Given the description of an element on the screen output the (x, y) to click on. 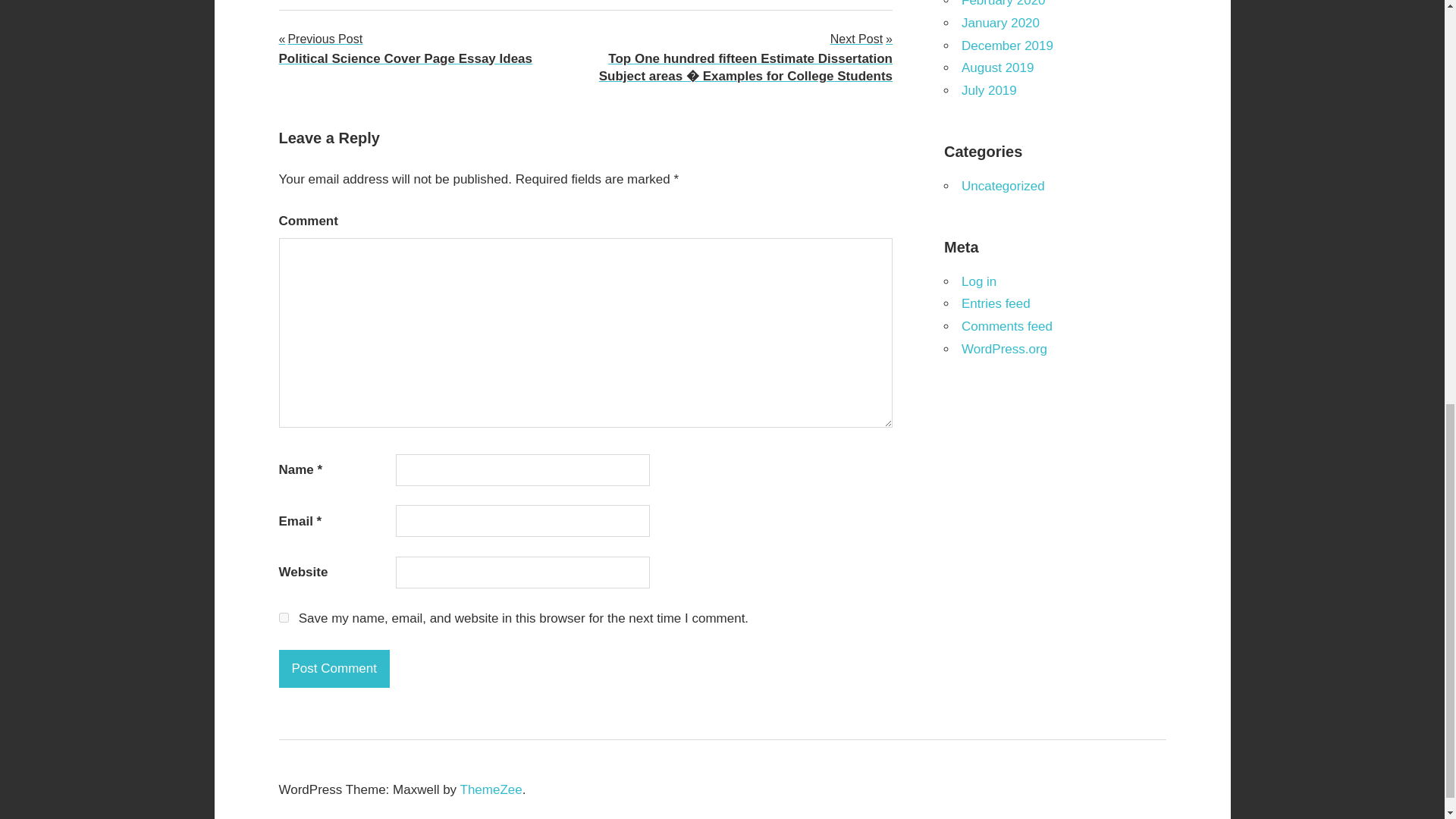
January 2020 (999, 22)
Entries feed (995, 303)
February 2020 (1002, 3)
July 2019 (988, 90)
Post Comment (405, 47)
December 2019 (334, 668)
Log in (1006, 45)
Comments feed (977, 281)
ThemeZee (1006, 326)
